Given the description of an element on the screen output the (x, y) to click on. 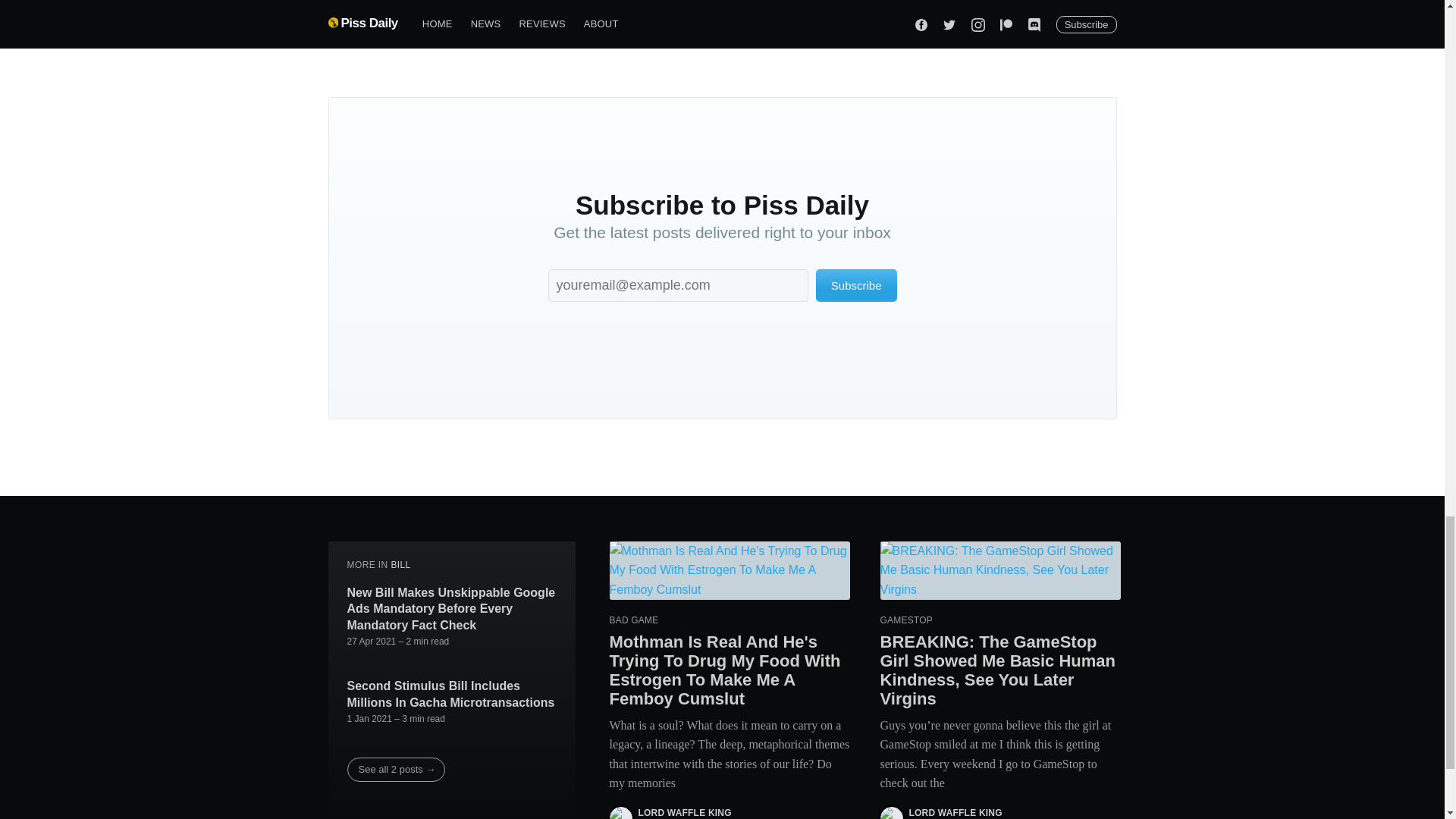
LORD WAFFLE KING (954, 812)
LORD WAFFLE KING (685, 812)
Subscribe (855, 285)
BILL (400, 564)
